Given the description of an element on the screen output the (x, y) to click on. 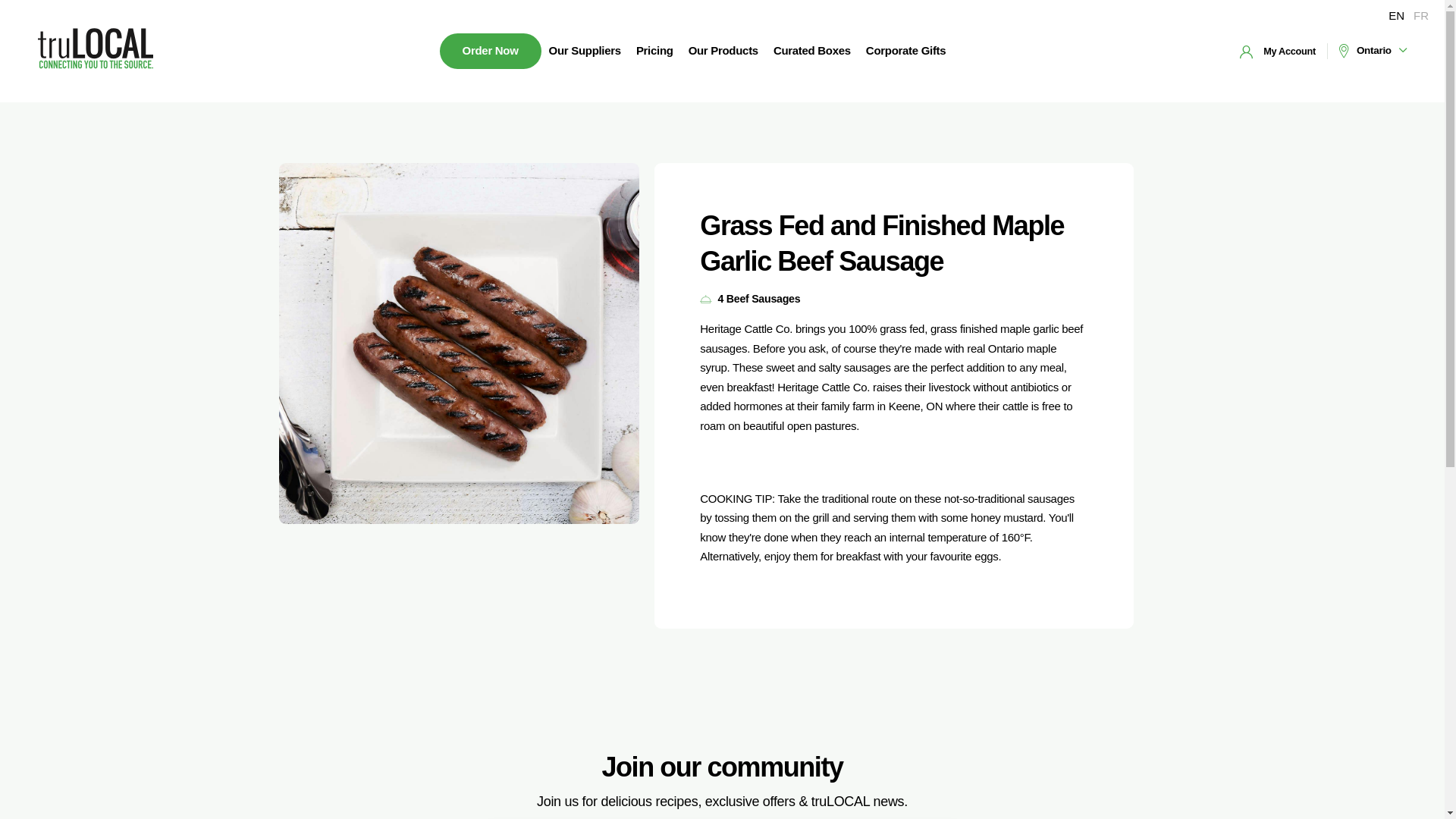
Corporate Gifts (906, 50)
FR (1420, 15)
Pricing (654, 50)
FR (1420, 15)
Our Suppliers (584, 50)
My Account (1278, 51)
EN (1396, 15)
EN (1396, 15)
Curated Boxes (812, 50)
Our Products (723, 50)
Order Now (490, 50)
